Given the description of an element on the screen output the (x, y) to click on. 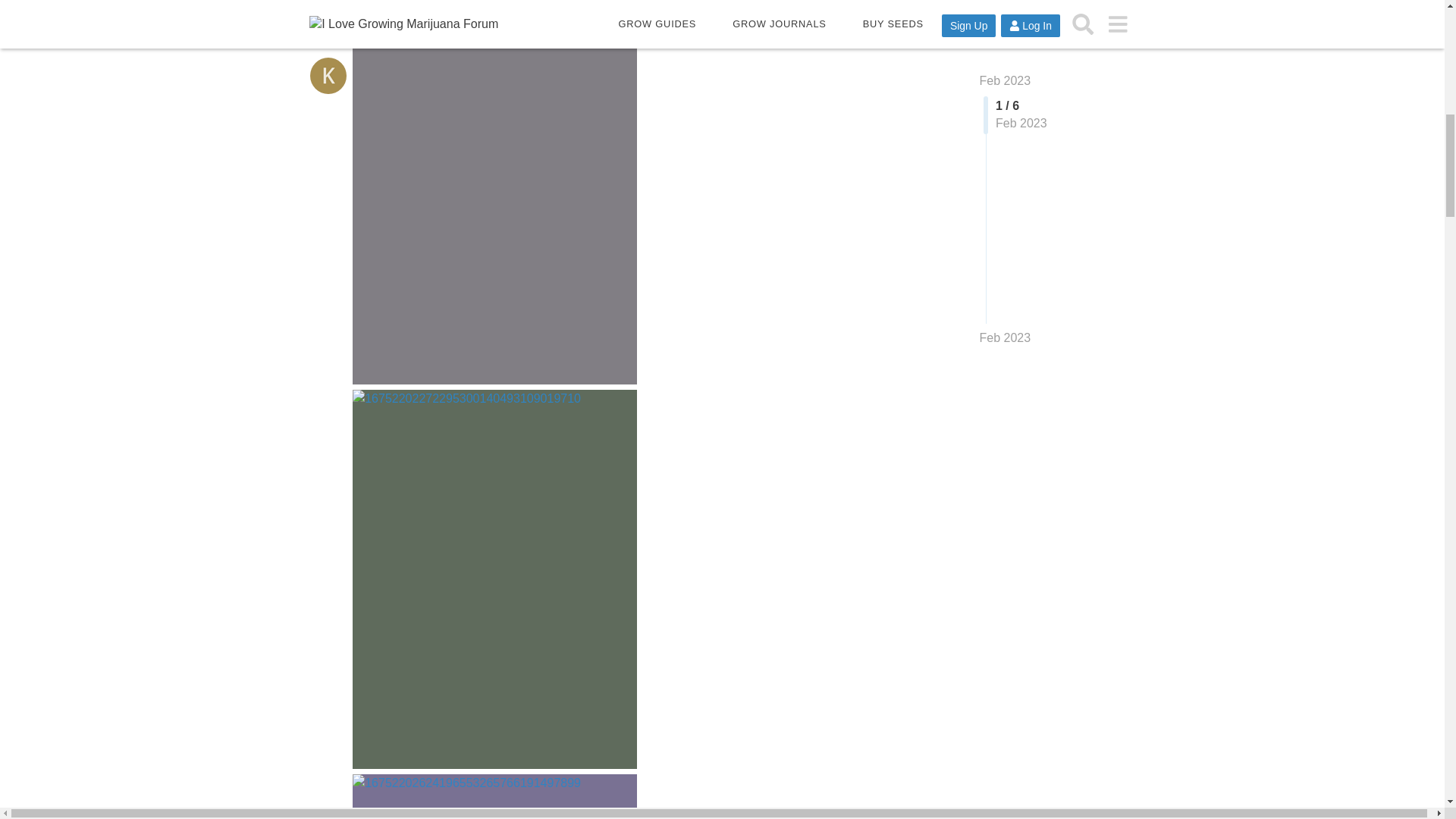
16752202624196553265766191497899 (494, 796)
